Given the description of an element on the screen output the (x, y) to click on. 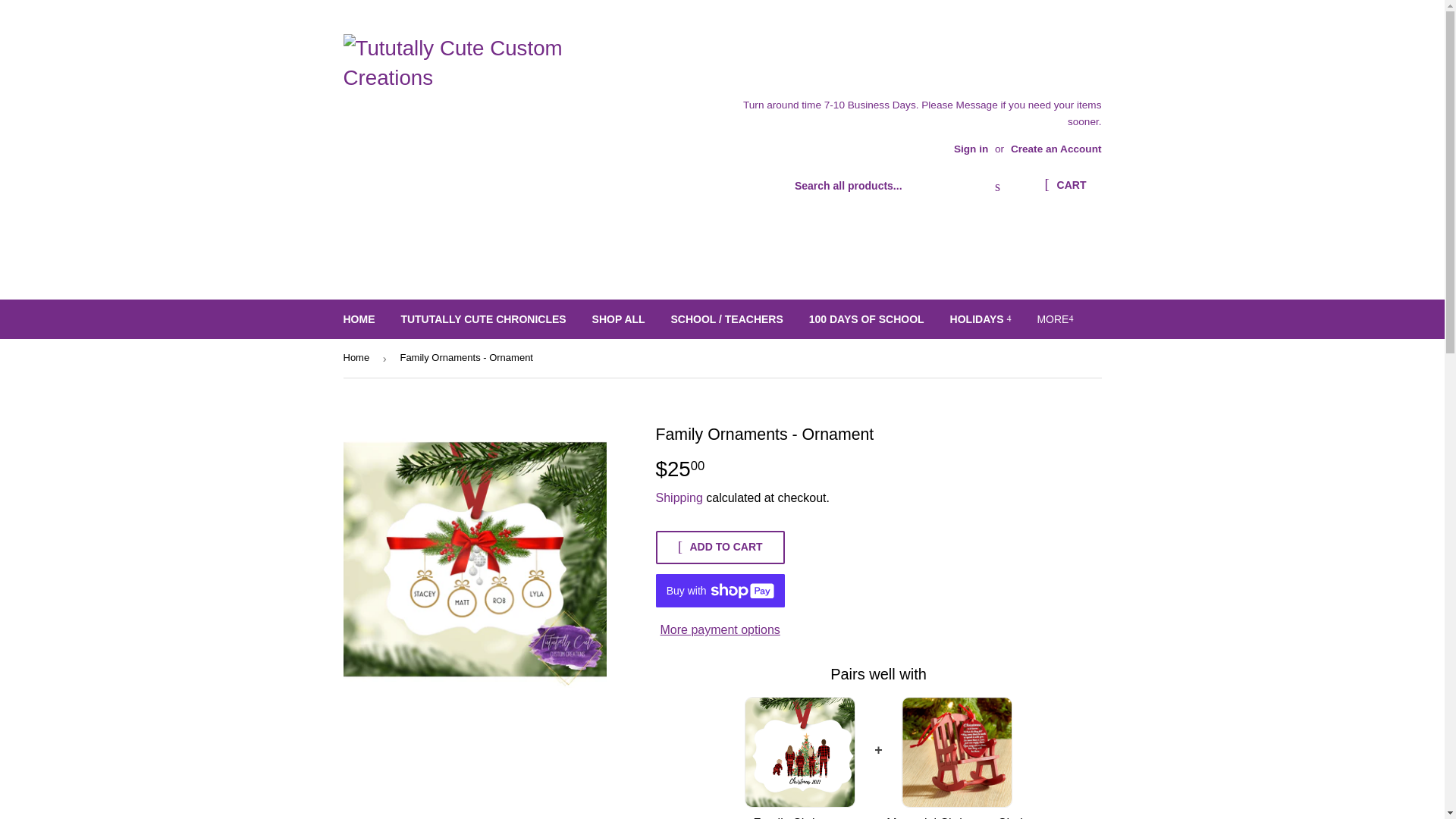
CART (1064, 185)
Sign in (970, 148)
Create an Account (1056, 148)
Search (996, 186)
